Given the description of an element on the screen output the (x, y) to click on. 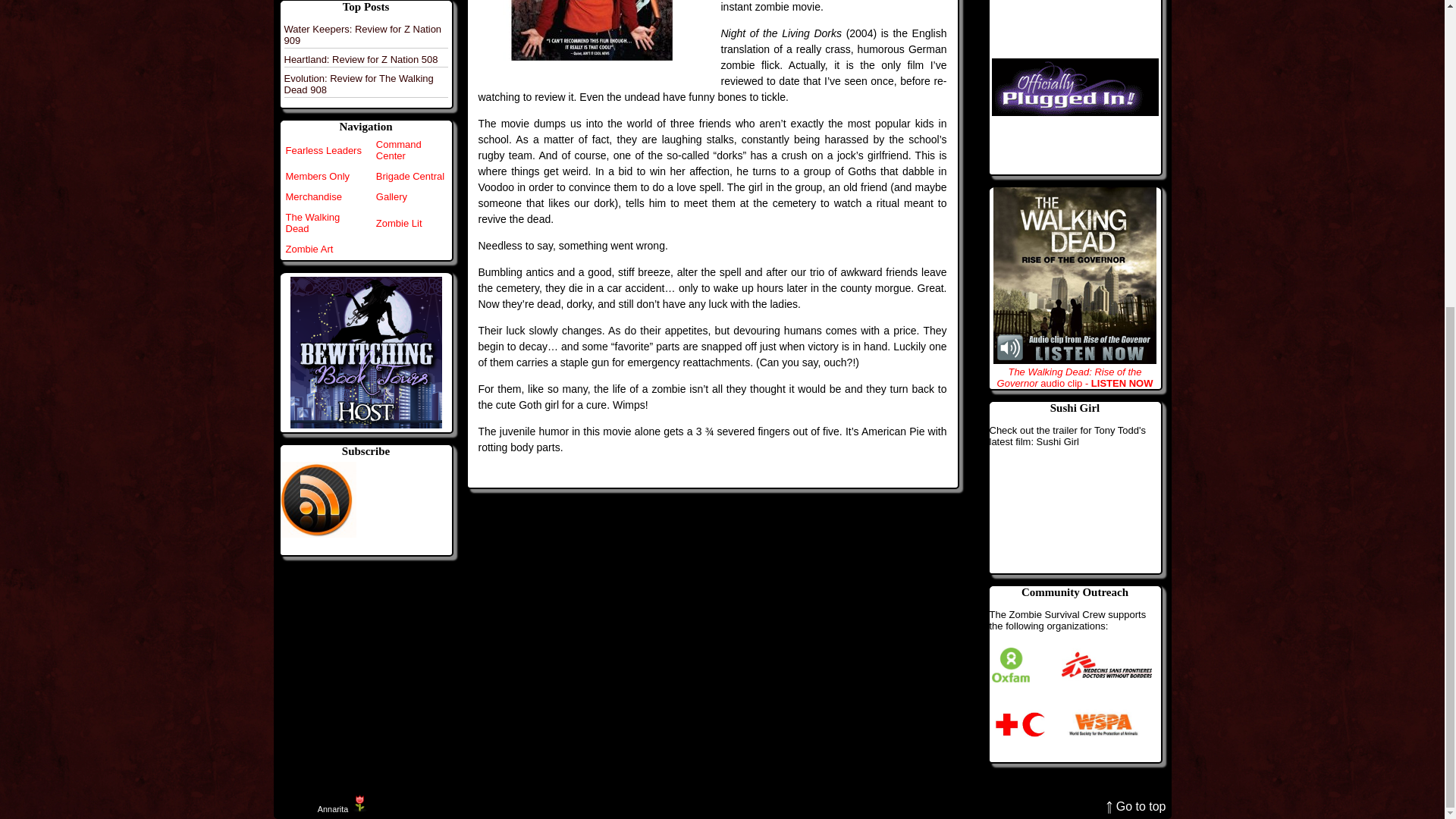
The Walking Dead (312, 222)
Command Center (398, 149)
Heartland: Review for Z Nation 508 (360, 59)
Zombie Art (309, 248)
Evolution: Review for The Walking Dead 908 (357, 83)
Go to top (1136, 806)
Zombie Lit (398, 223)
Oxfam1 (1010, 665)
Gallery (391, 196)
Fearless Leaders (323, 150)
RedCrossRedCrescent (1019, 724)
WSPA (1102, 724)
Water Keepers: Review for Z Nation 909 (362, 34)
Template Annarita (332, 809)
Merchandise (312, 196)
